Given the description of an element on the screen output the (x, y) to click on. 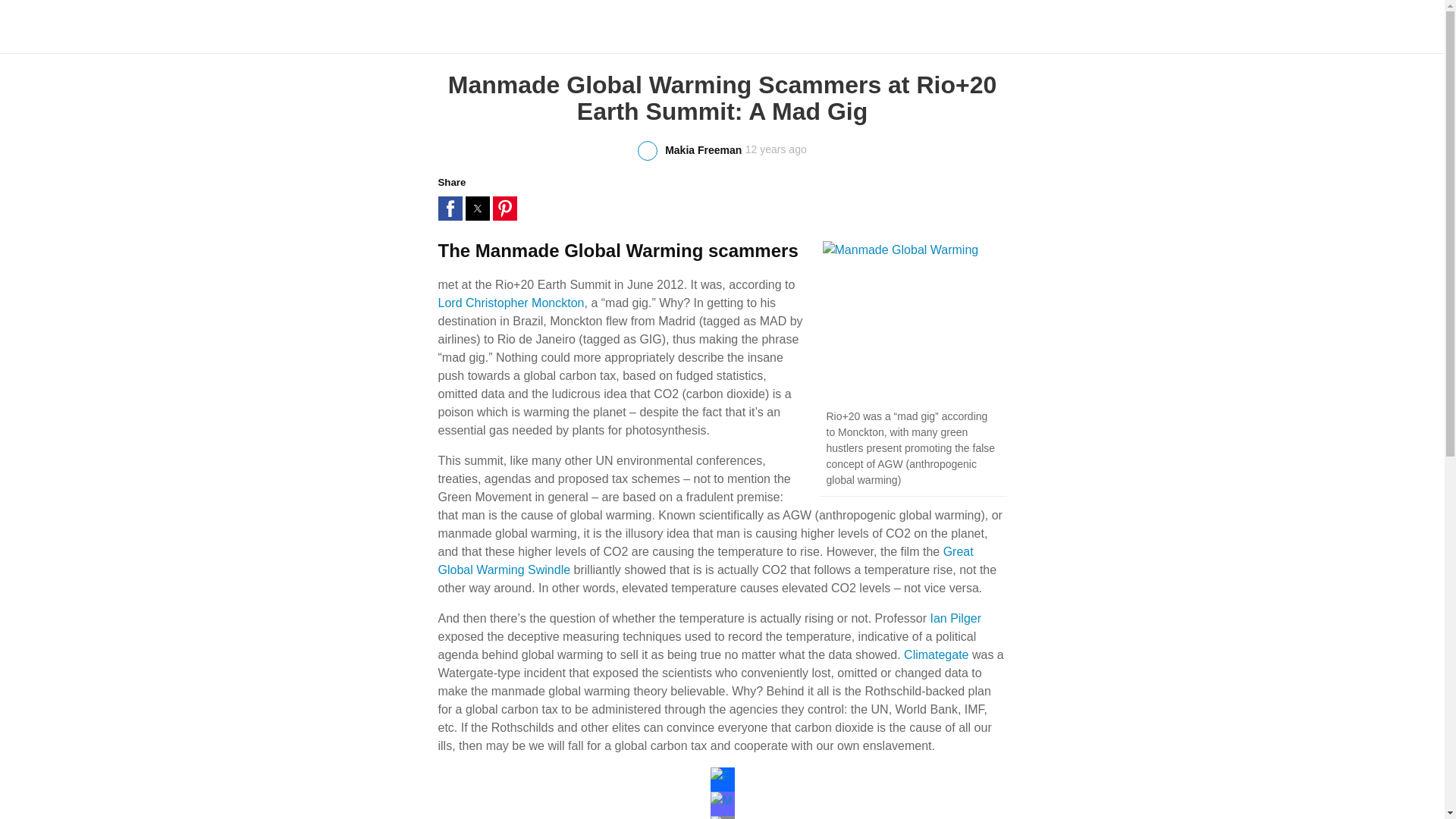
Lord Christopher Monckton (511, 302)
Ian Pilger (955, 617)
Facebook (722, 779)
Climategate (936, 654)
Mastodon (722, 803)
Great Global Warming Swindle (706, 560)
